Given the description of an element on the screen output the (x, y) to click on. 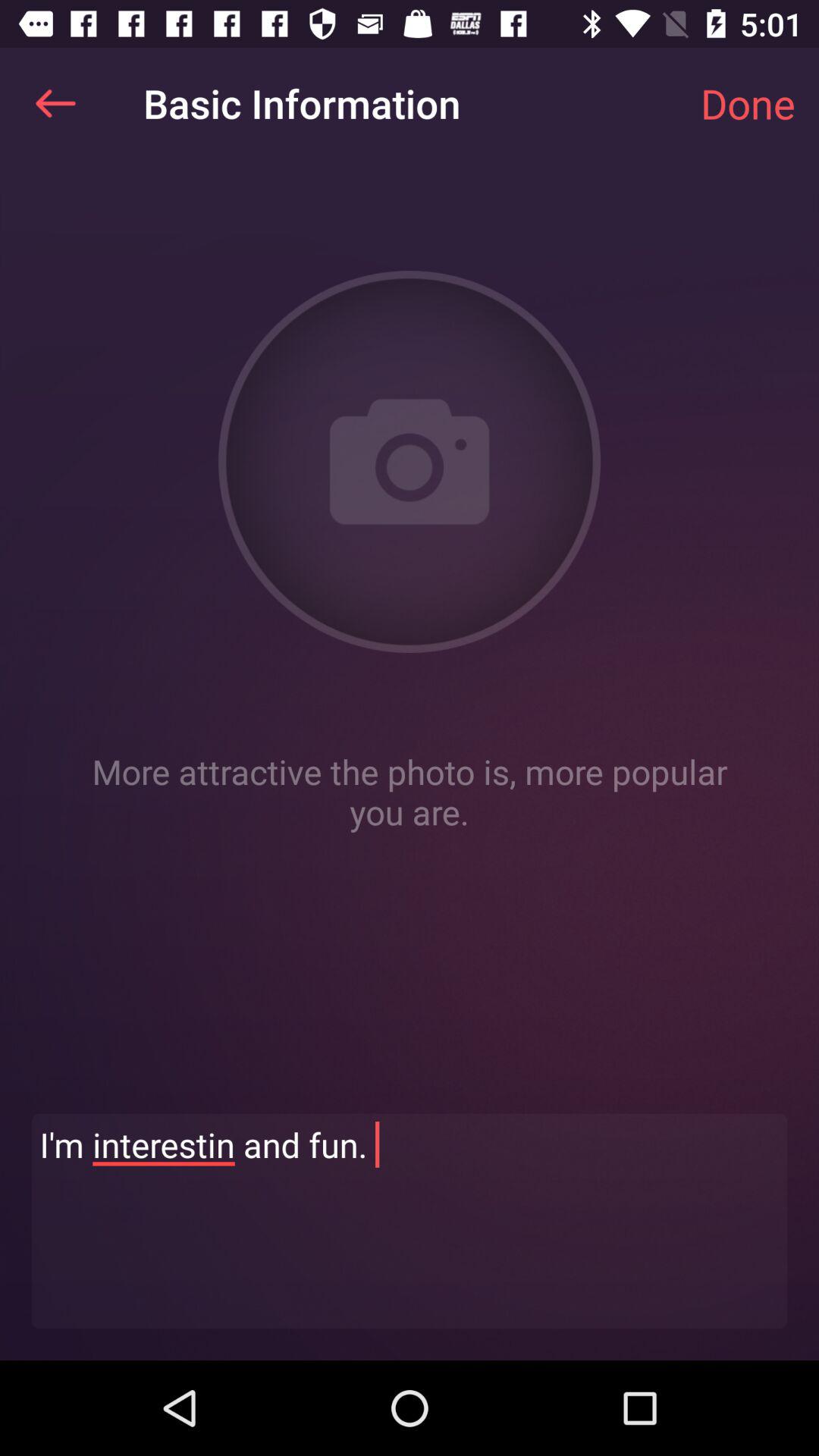
add photo (409, 461)
